Given the description of an element on the screen output the (x, y) to click on. 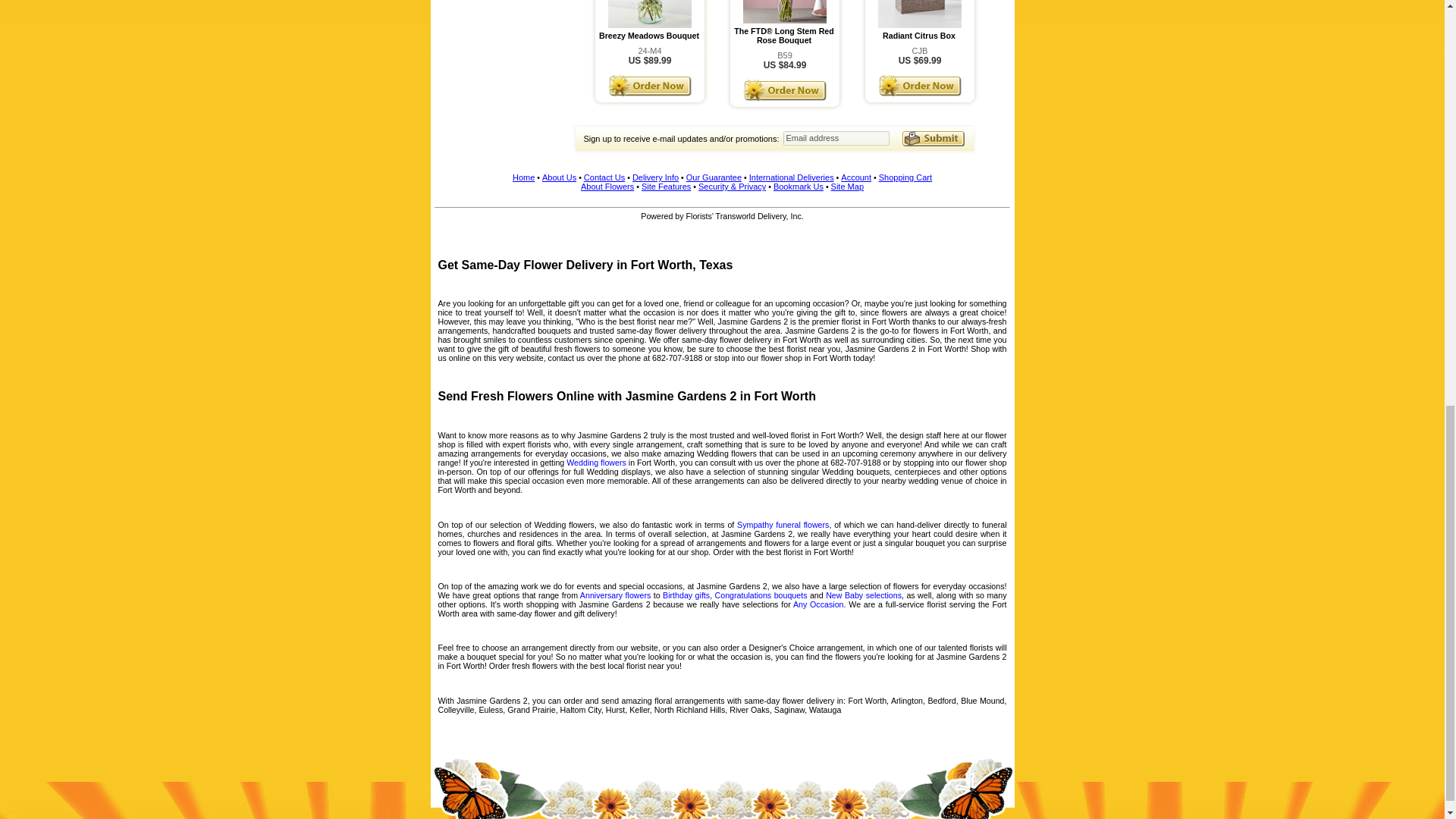
Email address (835, 138)
